Given the description of an element on the screen output the (x, y) to click on. 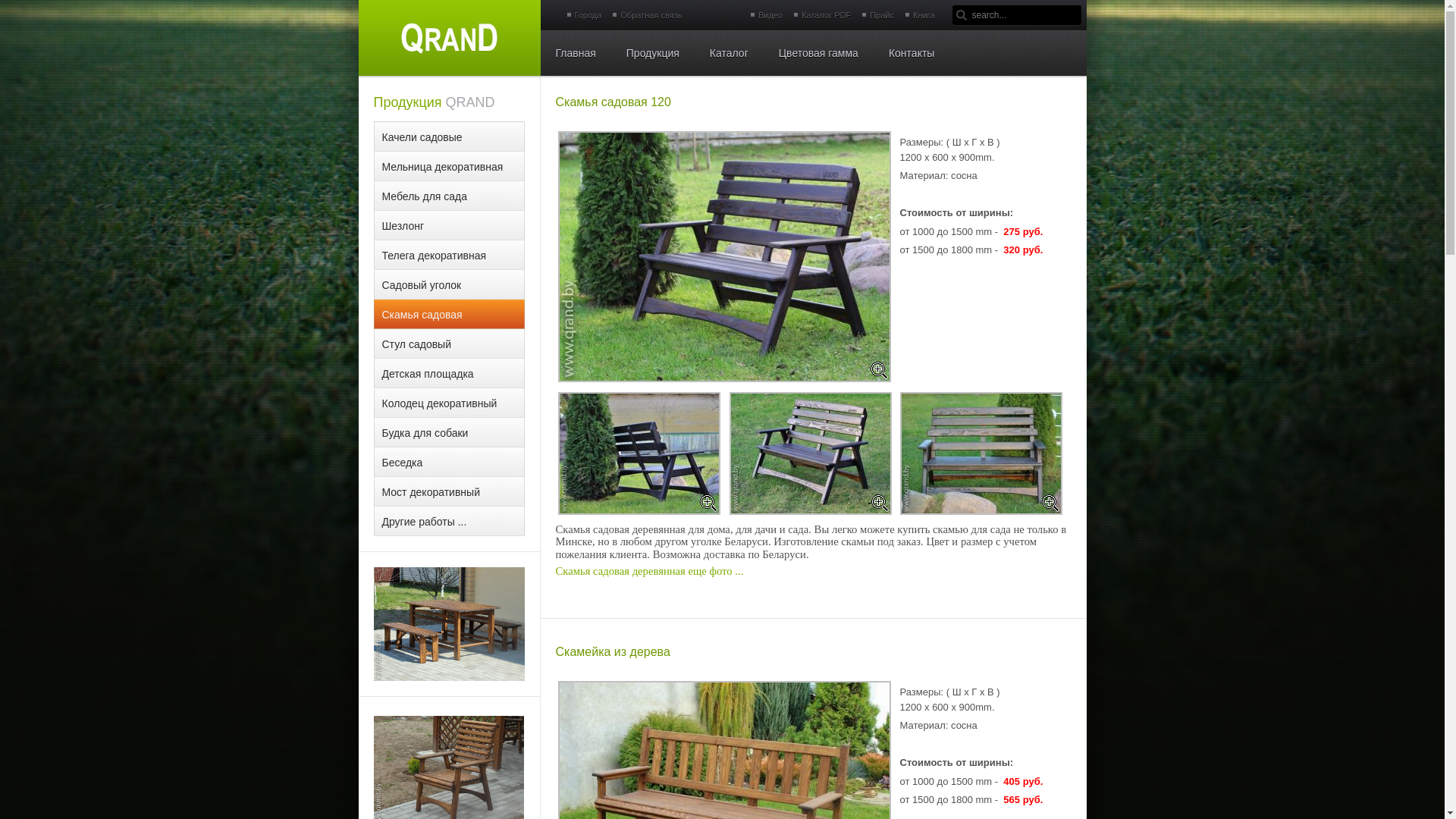
Search Element type: text (962, 15)
Reset Element type: text (8, 9)
